Given the description of an element on the screen output the (x, y) to click on. 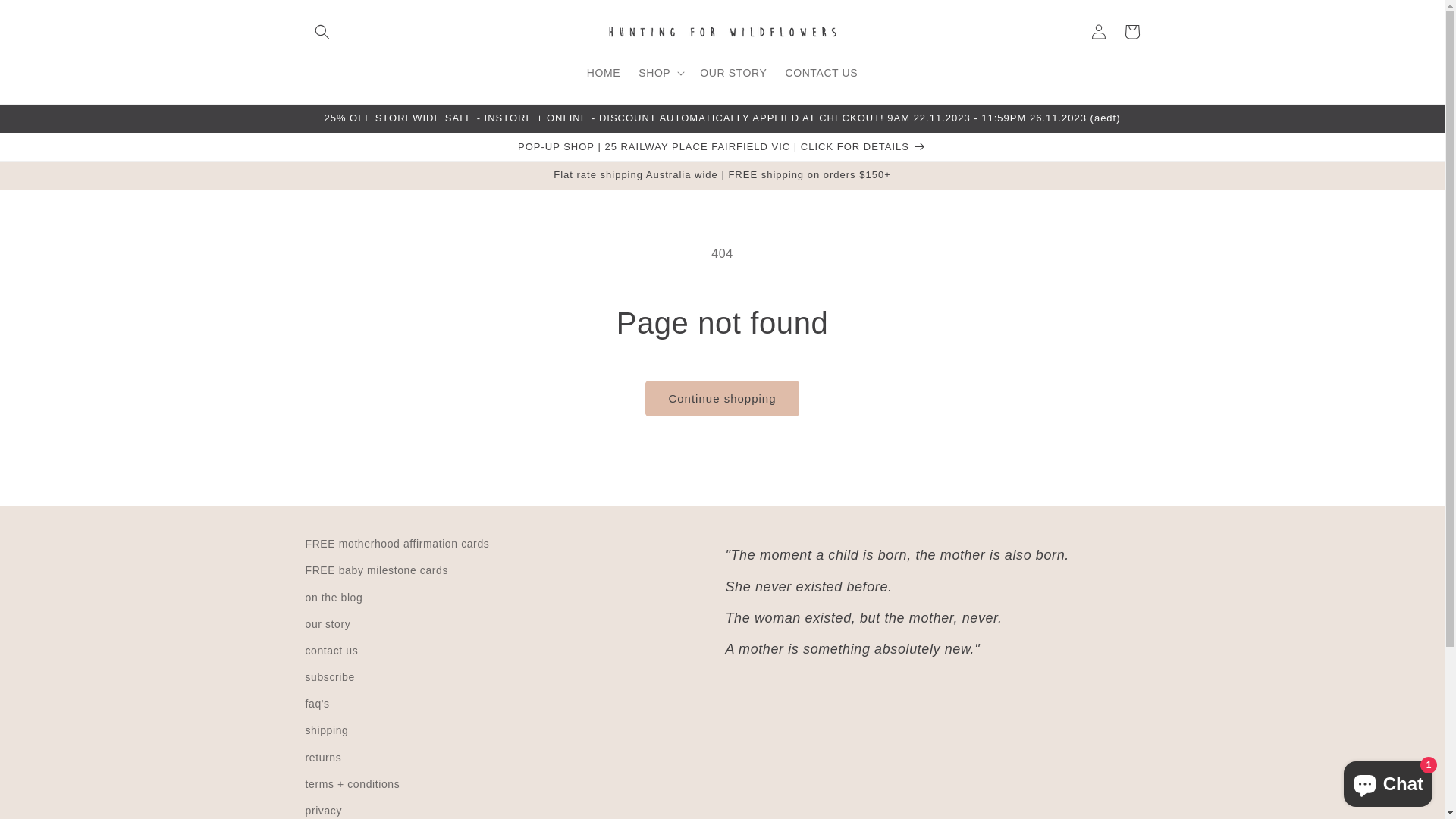
Continue shopping Element type: text (721, 398)
faq's Element type: text (316, 703)
FREE motherhood affirmation cards Element type: text (396, 545)
our story Element type: text (327, 624)
Cart Element type: text (1131, 31)
terms + conditions Element type: text (351, 784)
FREE baby milestone cards Element type: text (376, 570)
CONTACT US Element type: text (820, 71)
on the blog Element type: text (333, 597)
shipping Element type: text (326, 730)
Log in Element type: text (1097, 31)
returns Element type: text (322, 757)
HOME Element type: text (603, 71)
Shopify online store chat Element type: hover (1388, 780)
OUR STORY Element type: text (732, 71)
subscribe Element type: text (329, 677)
contact us Element type: text (330, 650)
